Given the description of an element on the screen output the (x, y) to click on. 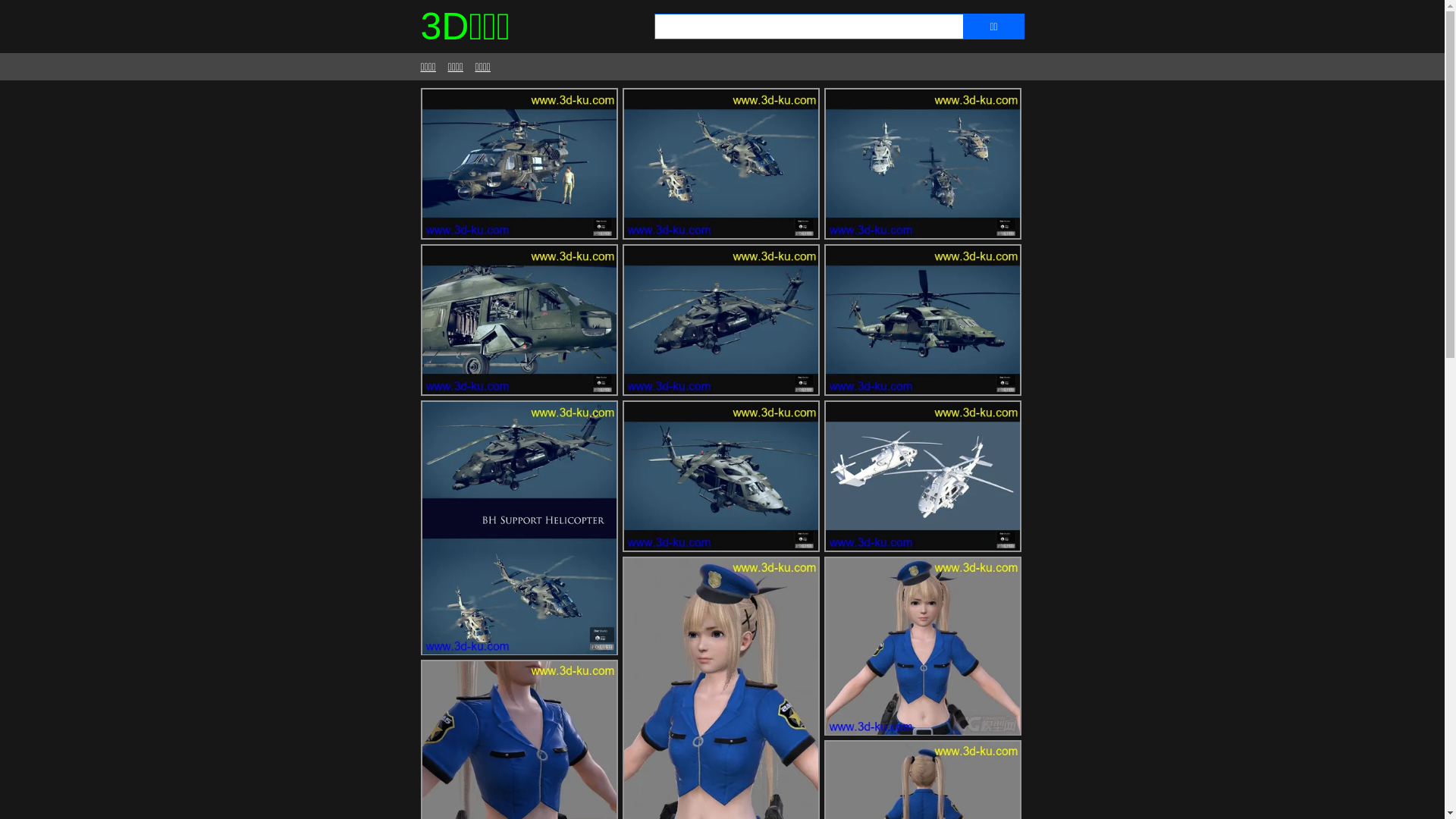
BH Support Helicopter Element type: hover (720, 319)
BH Support Helicopter Element type: hover (518, 163)
BH Support Helicopter Element type: hover (922, 475)
BH Support Helicopter Element type: hover (922, 319)
BH Support Helicopter Element type: hover (518, 527)
BH Support Helicopter Element type: hover (720, 475)
BH Support Helicopter Element type: hover (720, 163)
BH Support Helicopter Element type: hover (922, 163)
BH Support Helicopter Element type: hover (518, 319)
